Given the description of an element on the screen output the (x, y) to click on. 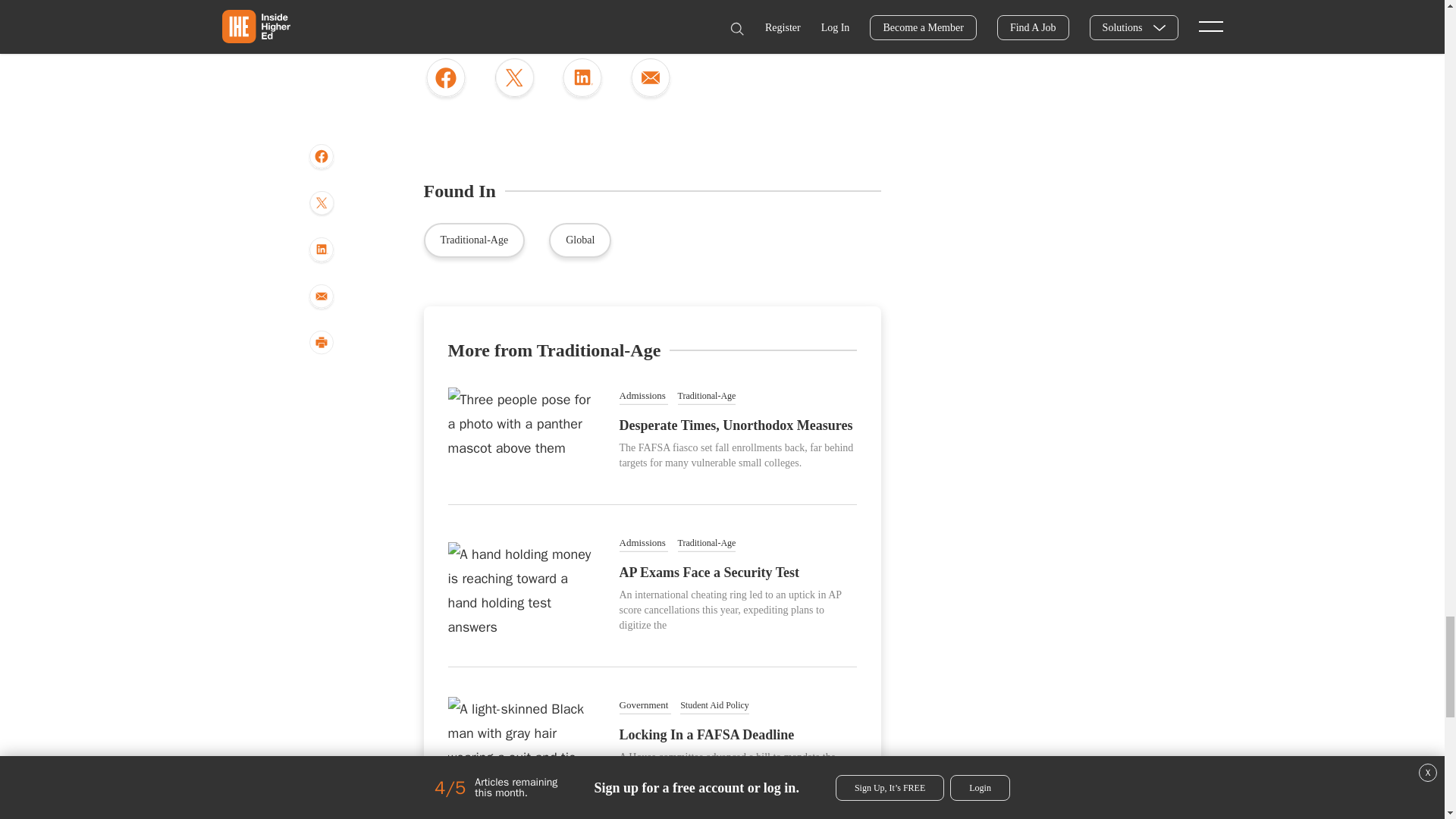
share to facebook (445, 79)
